Given the description of an element on the screen output the (x, y) to click on. 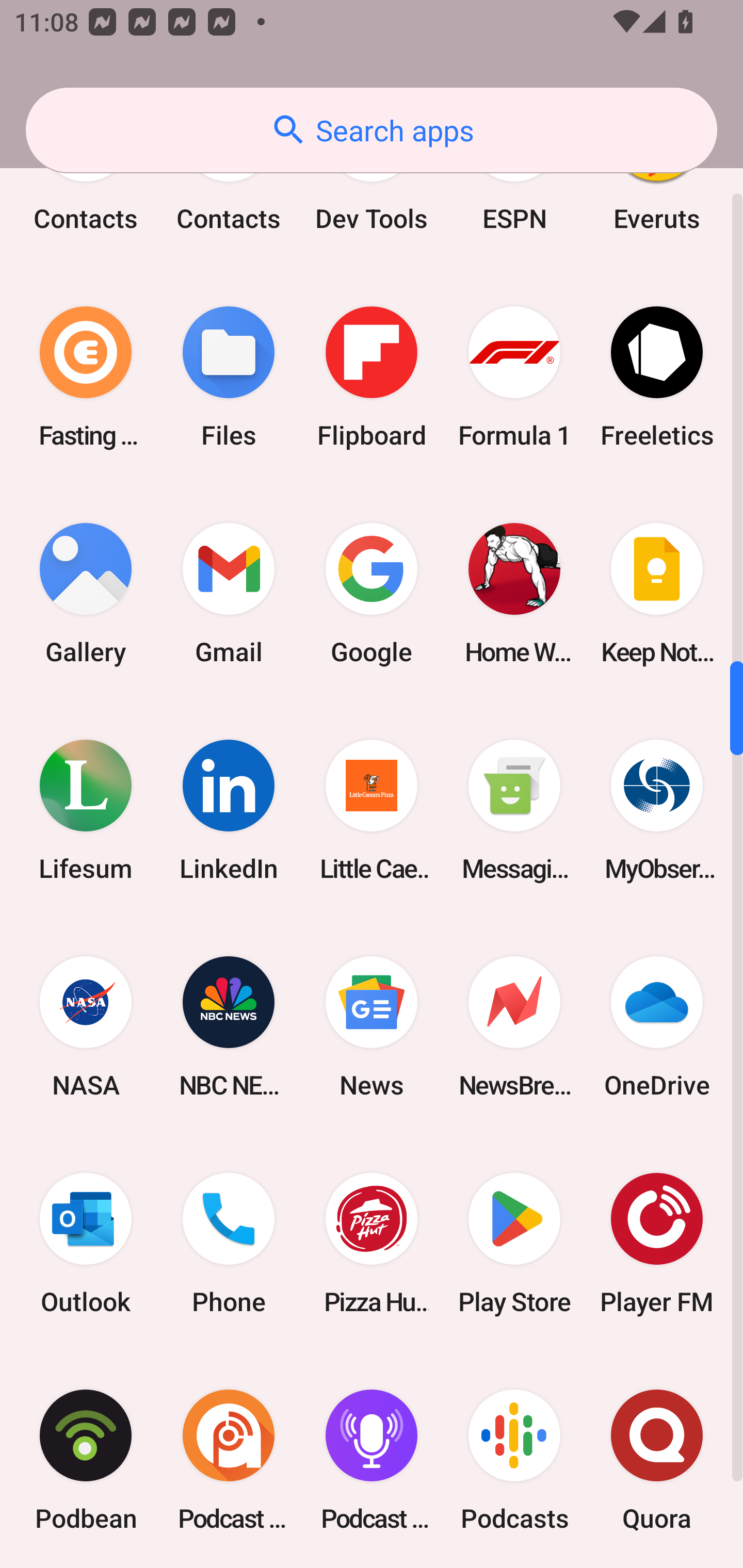
  Search apps (371, 130)
Fasting Coach (85, 377)
Files (228, 377)
Flipboard (371, 377)
Formula 1 (514, 377)
Freeletics (656, 377)
Gallery (85, 594)
Gmail (228, 594)
Google (371, 594)
Home Workout (514, 594)
Keep Notes (656, 594)
Lifesum (85, 810)
LinkedIn (228, 810)
Little Caesars Pizza (371, 810)
Messaging (514, 810)
MyObservatory (656, 810)
NASA (85, 1026)
NBC NEWS (228, 1026)
News (371, 1026)
NewsBreak (514, 1026)
OneDrive (656, 1026)
Outlook (85, 1243)
Phone (228, 1243)
Pizza Hut HK & Macau (371, 1243)
Play Store (514, 1243)
Player FM (656, 1243)
Podbean (85, 1459)
Podcast Addict (228, 1459)
Podcast Player (371, 1459)
Podcasts (514, 1459)
Quora (656, 1459)
